Given the description of an element on the screen output the (x, y) to click on. 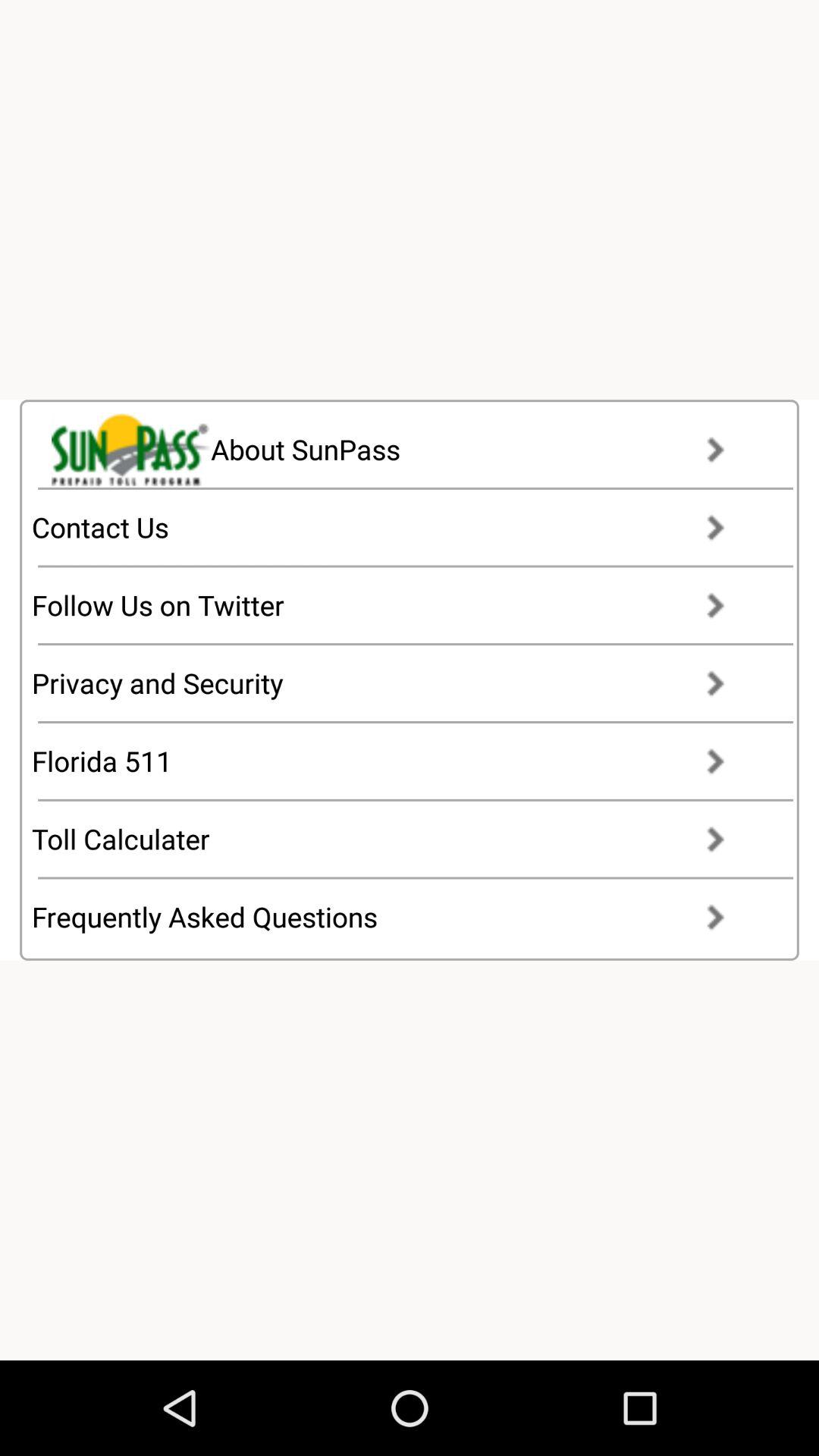
jump until toll calculater (392, 839)
